Given the description of an element on the screen output the (x, y) to click on. 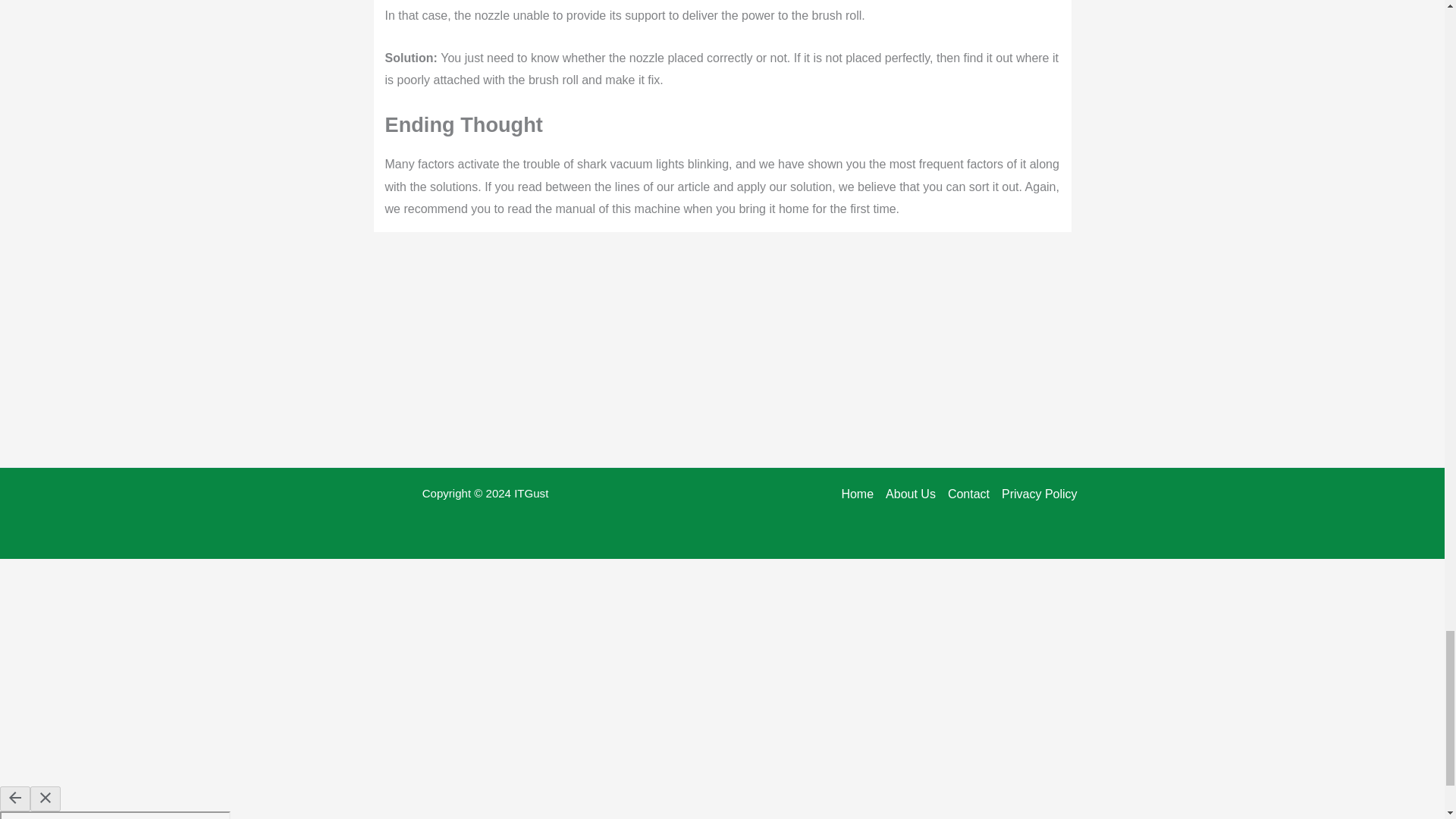
Privacy Policy (1036, 494)
Contact (968, 494)
About Us (910, 494)
Home (860, 494)
